Given the description of an element on the screen output the (x, y) to click on. 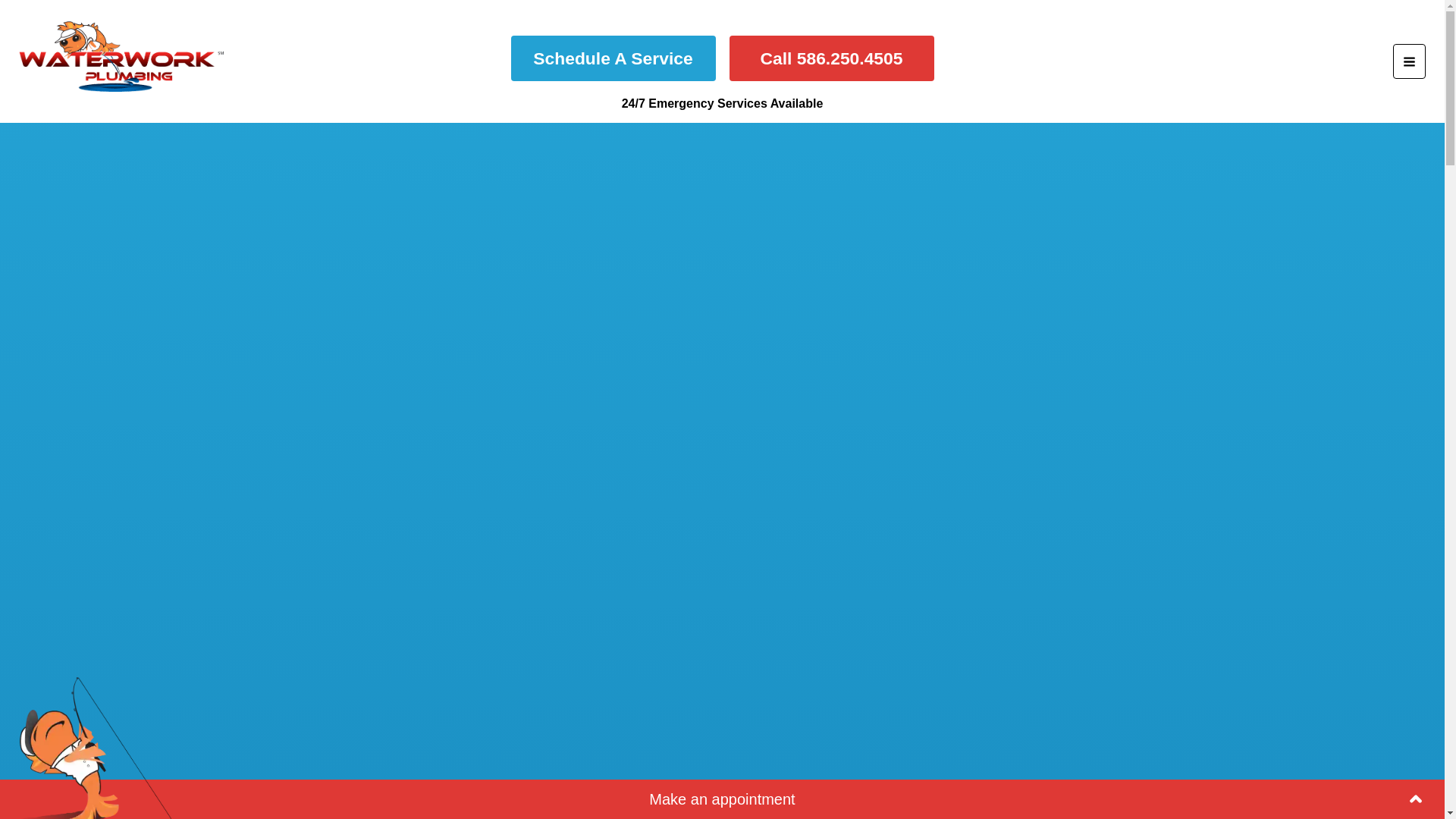
Schedule A Service (613, 58)
Main Menu (1409, 61)
Call 586.250.4505 (831, 58)
Schedule (948, 803)
